Given the description of an element on the screen output the (x, y) to click on. 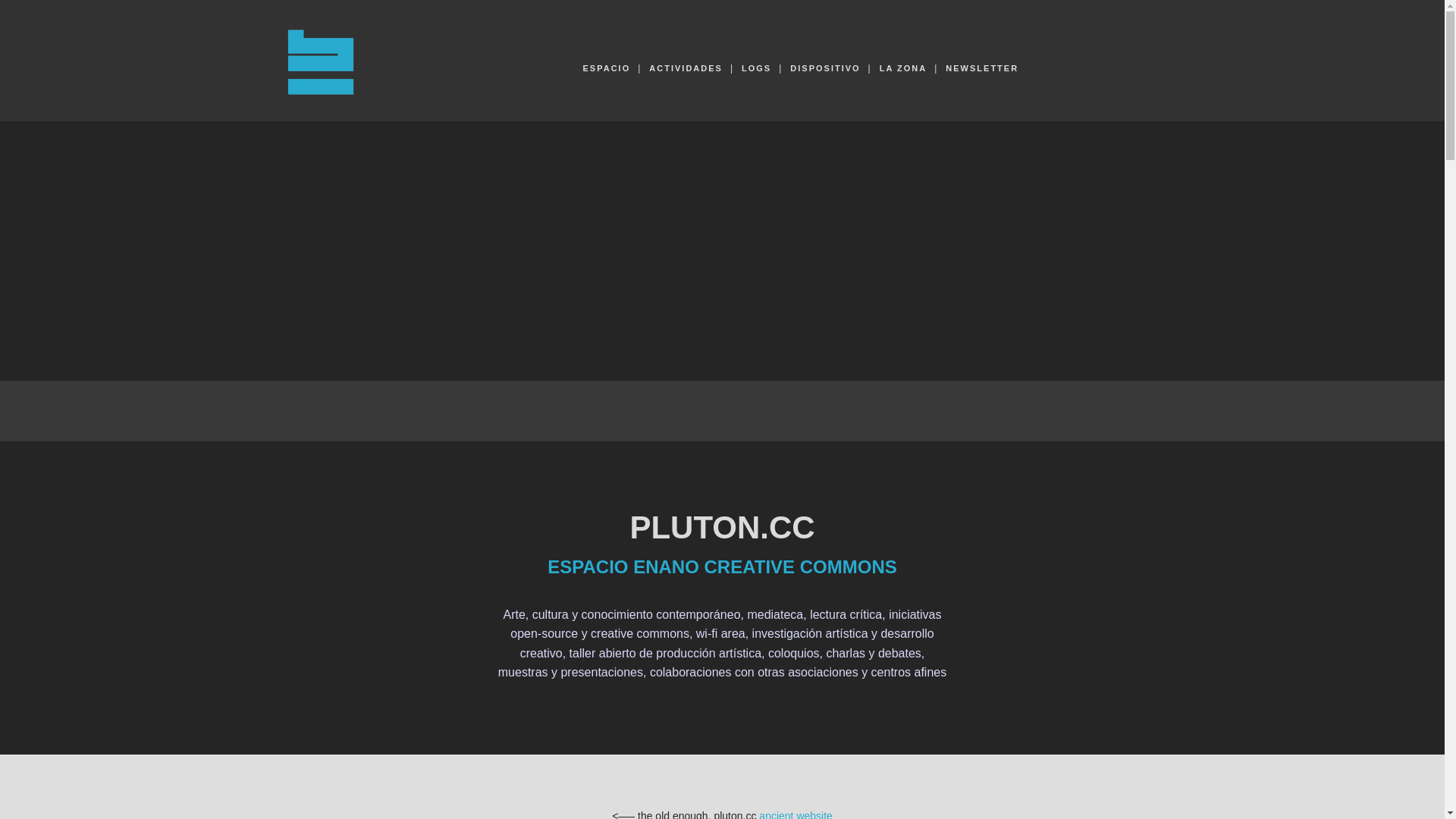
NEWSLETTER Element type: text (981, 67)
ESPACIO Element type: text (606, 67)
DISPOSITIVO Element type: text (824, 67)
ACTIVIDADES Element type: text (685, 67)
LOGS Element type: text (756, 67)
LA ZONA Element type: text (902, 67)
